Given the description of an element on the screen output the (x, y) to click on. 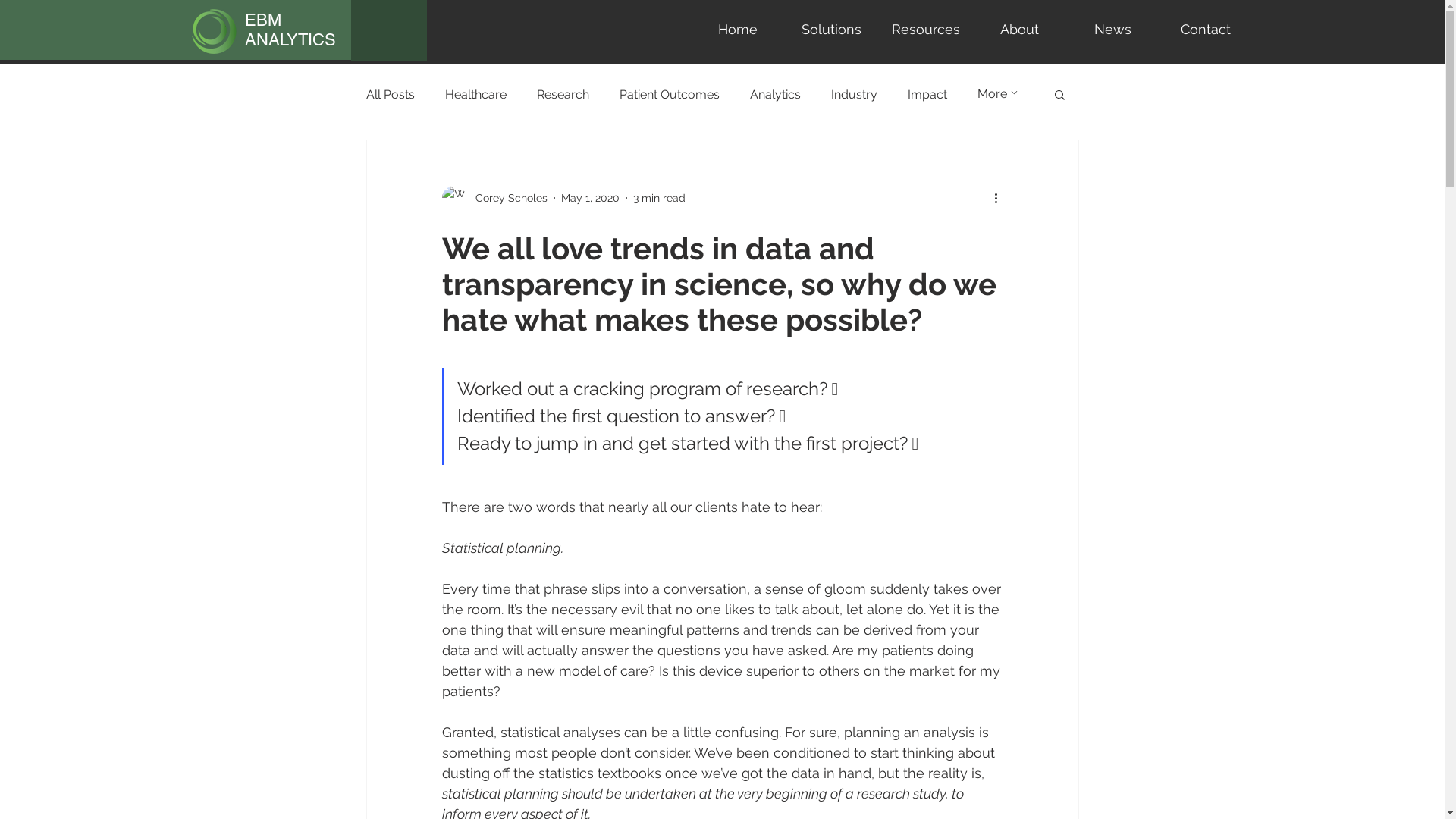
Healthcare Element type: text (474, 93)
All Posts Element type: text (389, 93)
Patient Outcomes Element type: text (668, 93)
About Element type: text (1019, 29)
Home Element type: text (737, 29)
Industry Element type: text (854, 93)
Analytics Element type: text (774, 93)
Contact Element type: text (1205, 29)
News Element type: text (1111, 29)
Solutions Element type: text (831, 29)
Research Element type: text (562, 93)
ANALYTICS Element type: text (289, 39)
Resources Element type: text (925, 29)
Impact Element type: text (926, 93)
EBM Element type: text (262, 19)
